Given the description of an element on the screen output the (x, y) to click on. 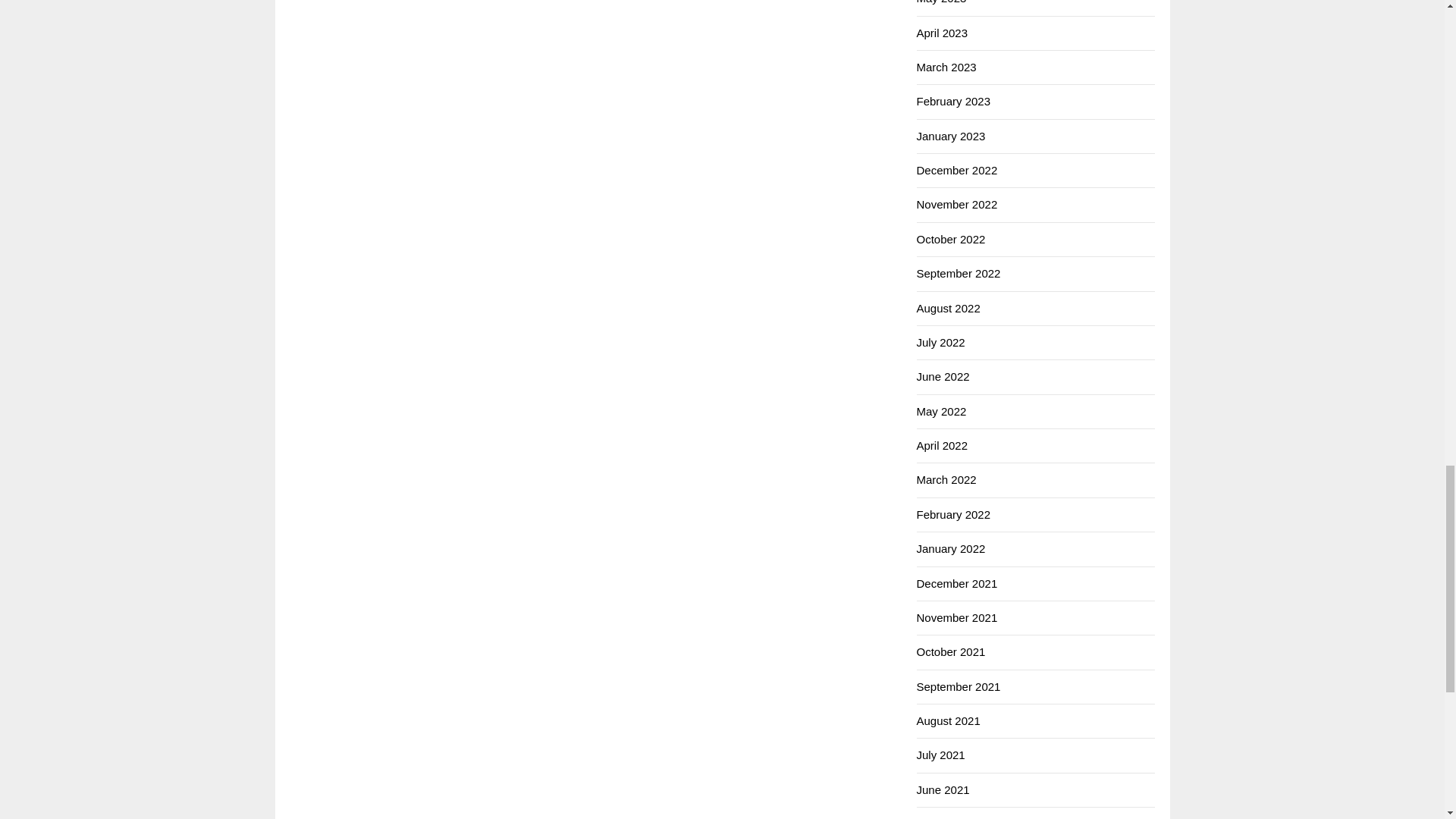
April 2023 (941, 32)
December 2022 (956, 169)
January 2023 (950, 135)
February 2023 (952, 101)
March 2023 (945, 66)
November 2022 (956, 204)
May 2023 (940, 2)
October 2022 (950, 238)
September 2022 (957, 273)
